Given the description of an element on the screen output the (x, y) to click on. 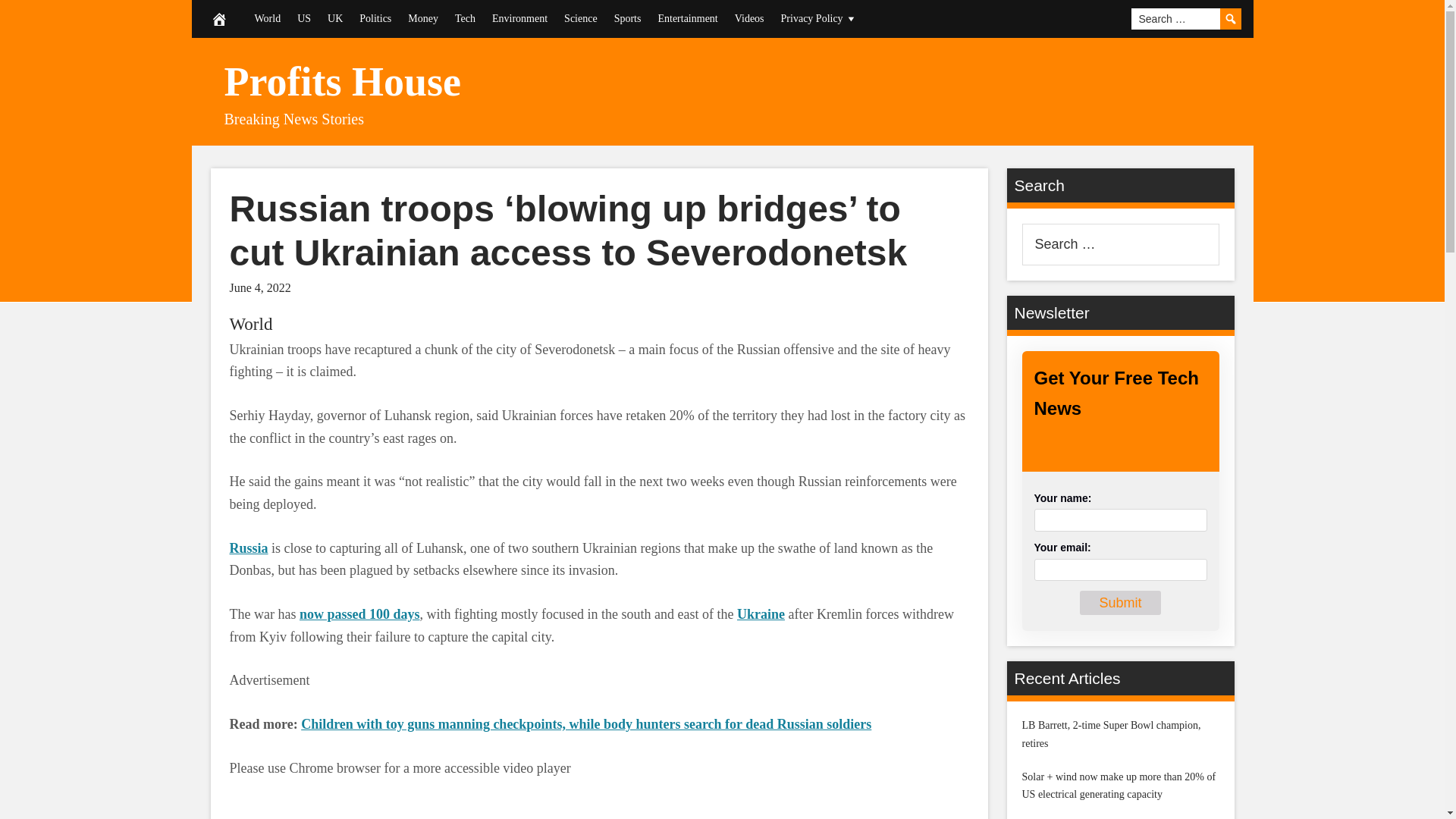
Money (422, 18)
Tech (464, 18)
Submit (1120, 602)
Sports (627, 18)
Privacy Policy (819, 18)
Entertainment (687, 18)
World (250, 323)
Science (580, 18)
Videos (749, 18)
World (267, 18)
Profits House (342, 81)
Environment (519, 18)
